Given the description of an element on the screen output the (x, y) to click on. 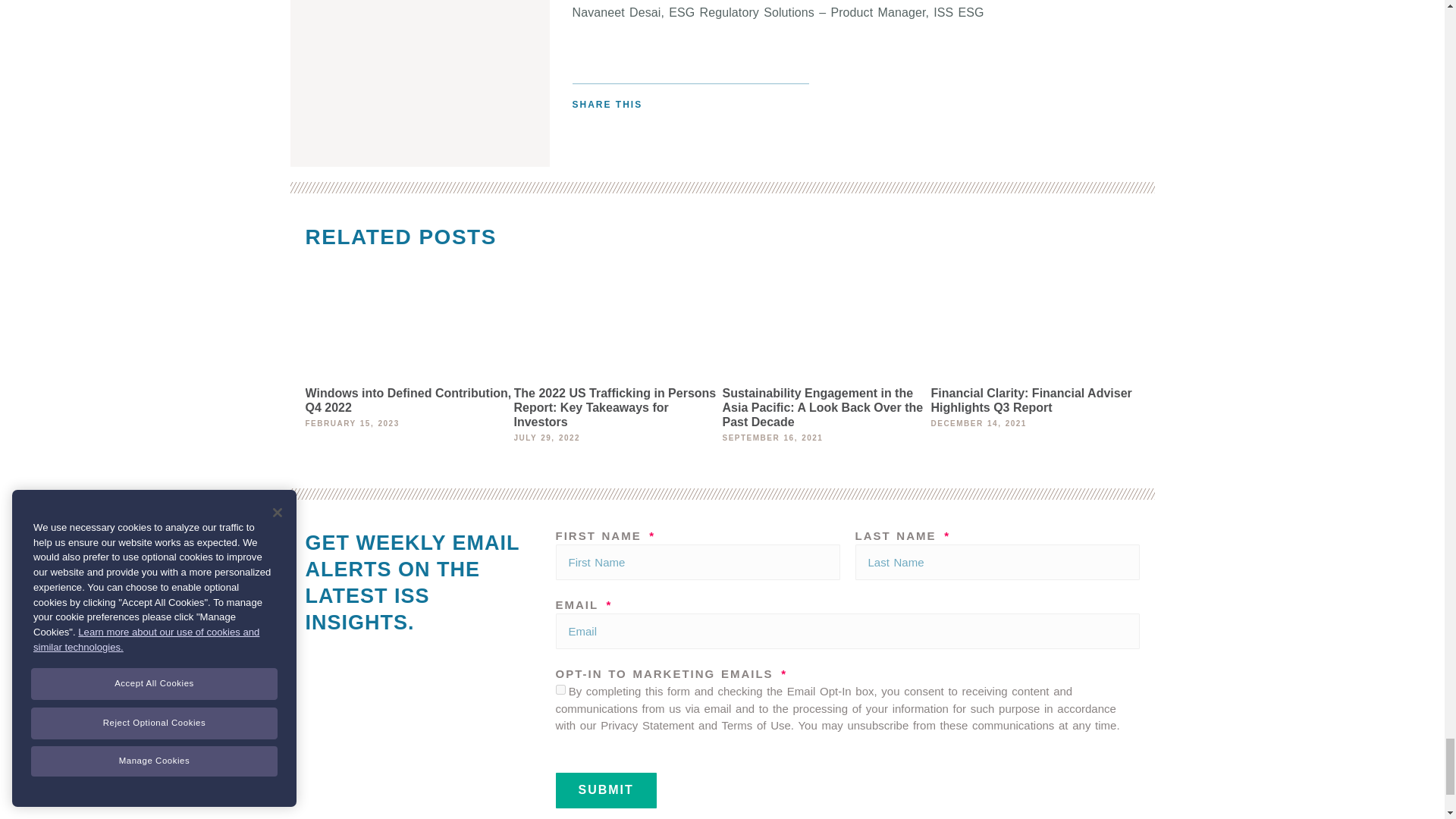
on (559, 689)
